Given the description of an element on the screen output the (x, y) to click on. 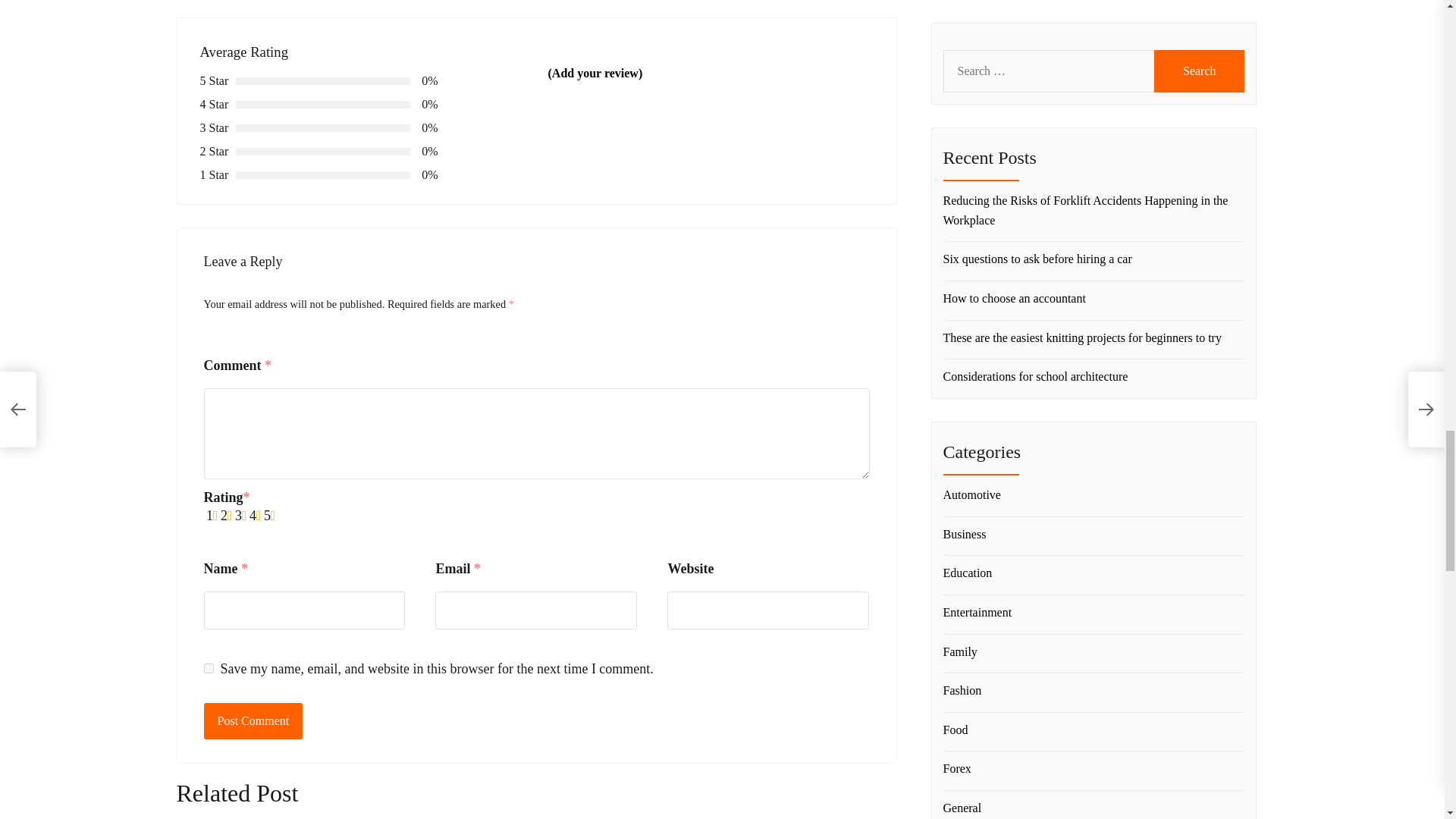
Post Comment (252, 720)
yes (207, 668)
